Given the description of an element on the screen output the (x, y) to click on. 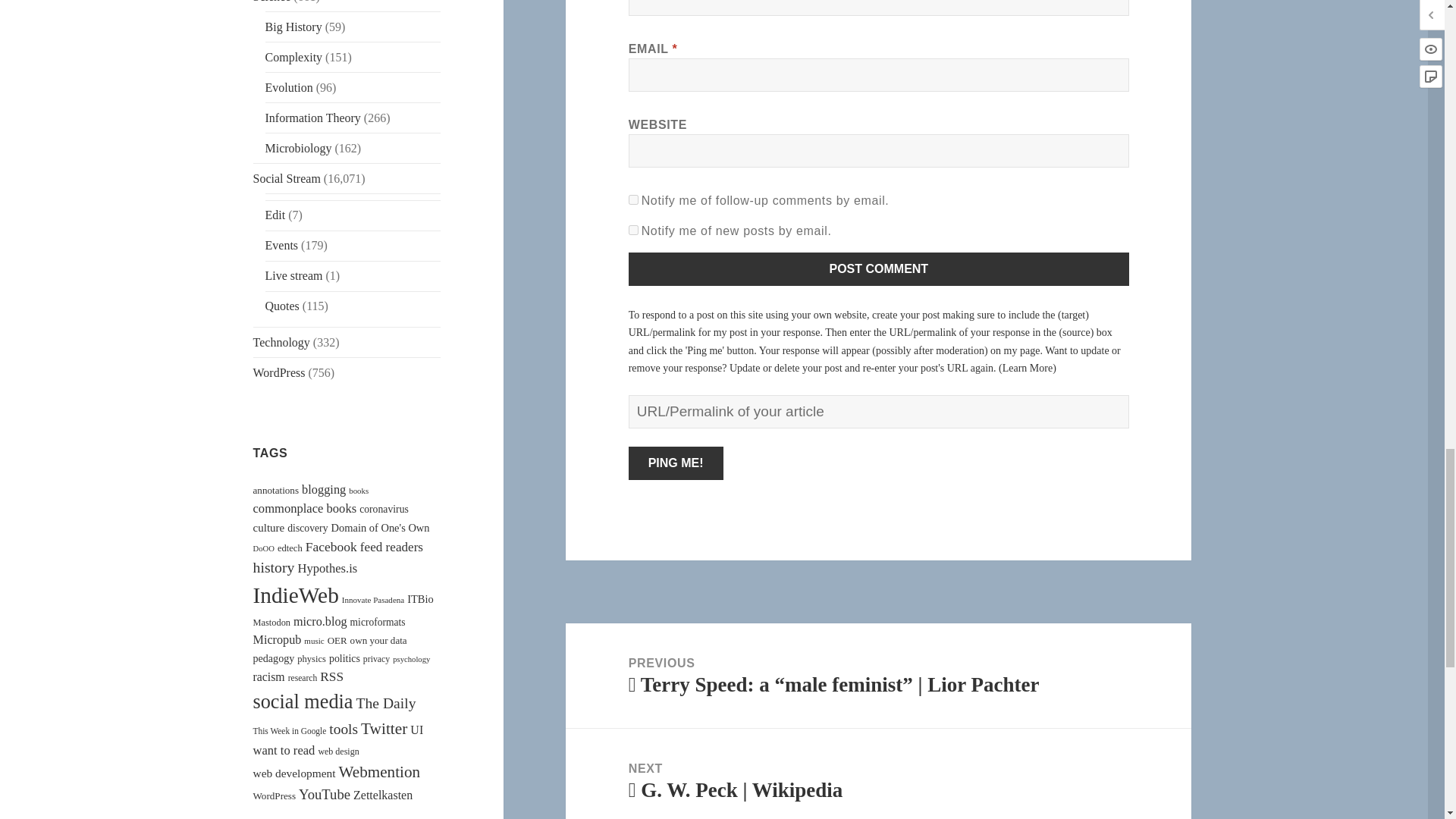
subscribe (633, 230)
Ping me! (675, 462)
subscribe (633, 199)
Post Comment (878, 268)
